Given the description of an element on the screen output the (x, y) to click on. 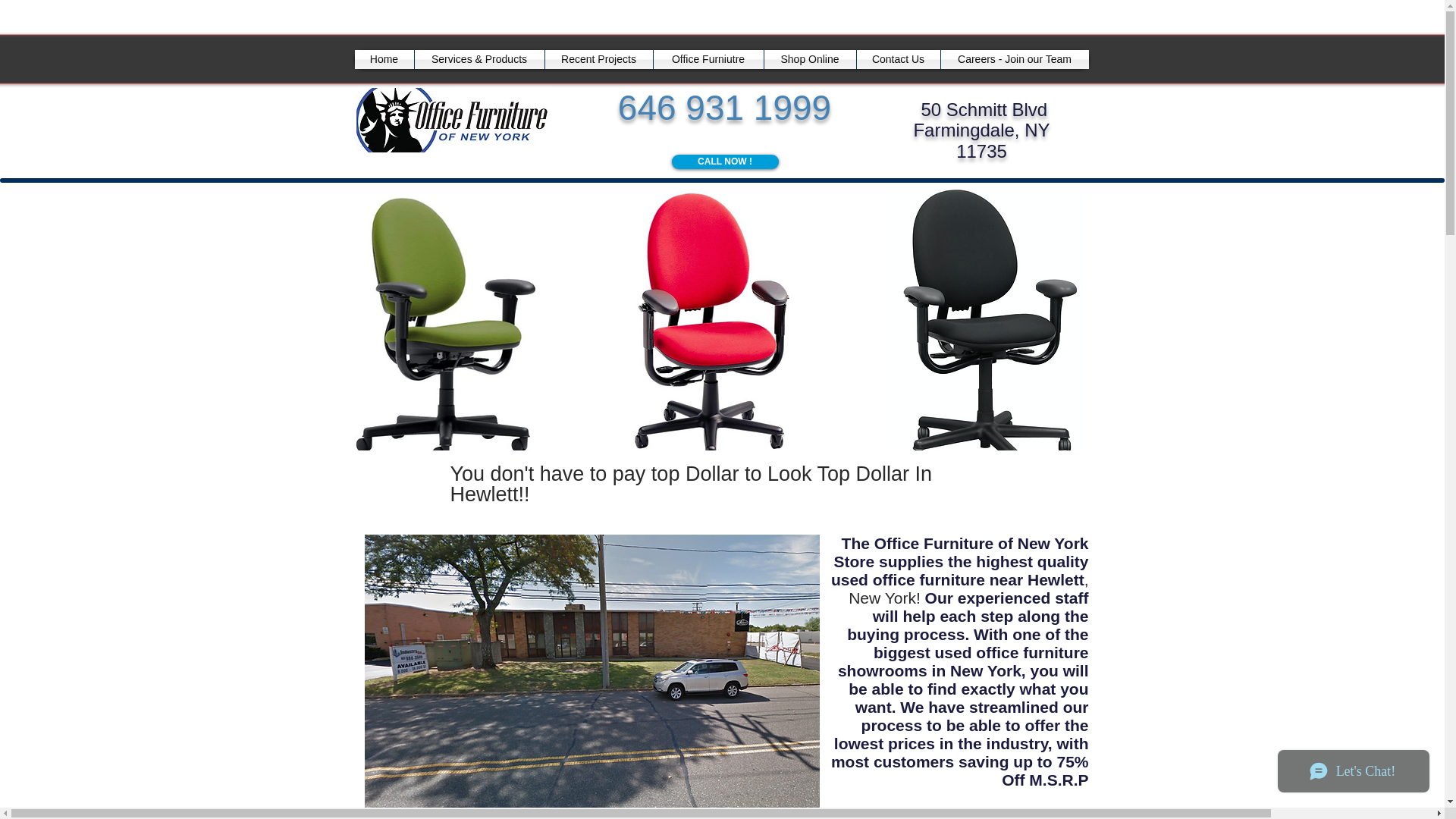
CALL NOW ! (724, 161)
Recent Projects (598, 58)
Careers - Join our Team (1013, 58)
Office Furniutre (707, 58)
Shop Online (810, 58)
Home (384, 58)
Contact Us (898, 58)
Wix Chat (1356, 774)
